Given the description of an element on the screen output the (x, y) to click on. 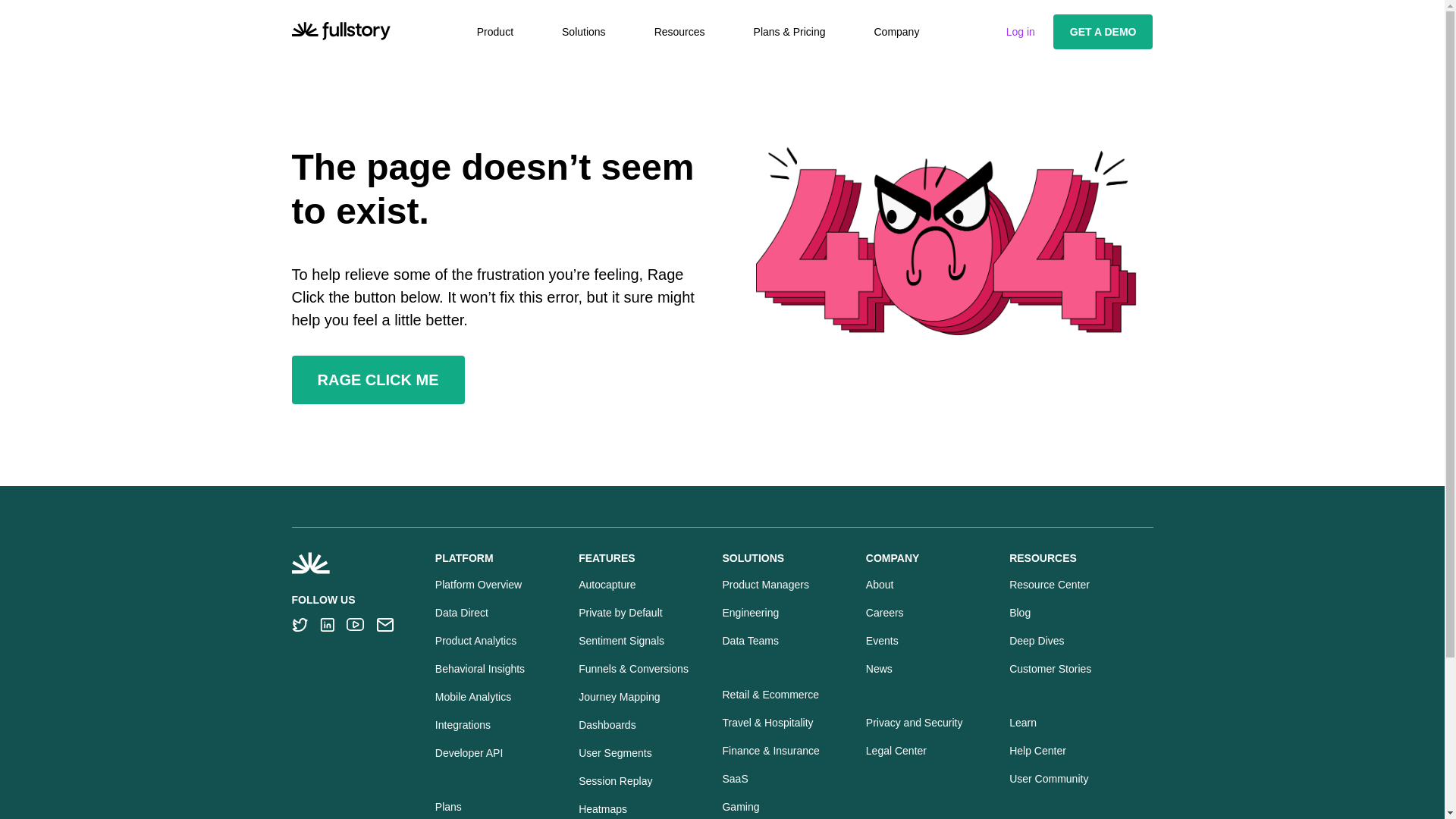
Resources (678, 31)
Log in (1020, 31)
Product (495, 31)
Resources (678, 31)
Company (895, 31)
GET A DEMO (1102, 31)
